Given the description of an element on the screen output the (x, y) to click on. 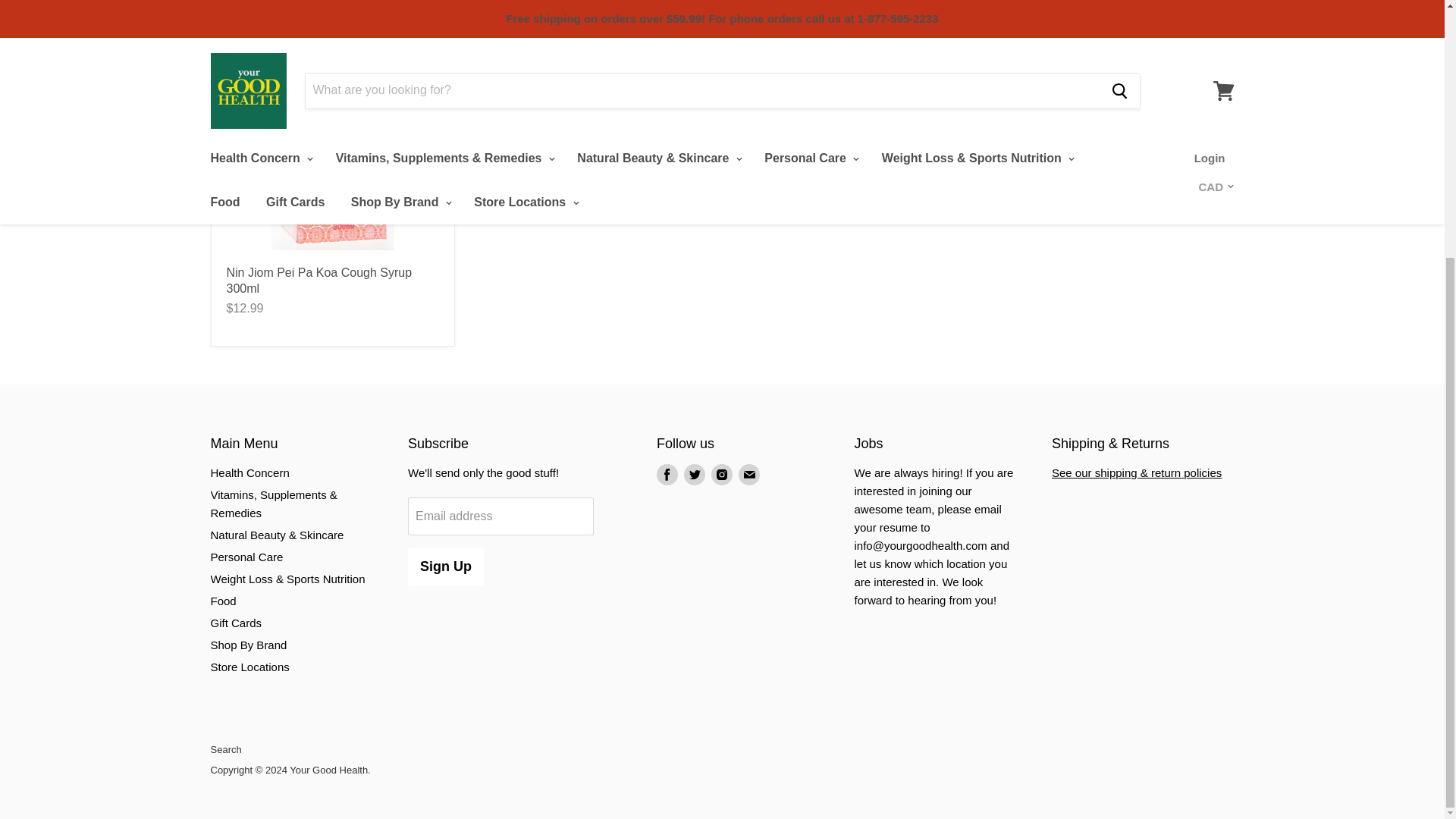
Instagram (721, 474)
Twitter (694, 474)
E-mail (748, 474)
Facebook (667, 474)
